Given the description of an element on the screen output the (x, y) to click on. 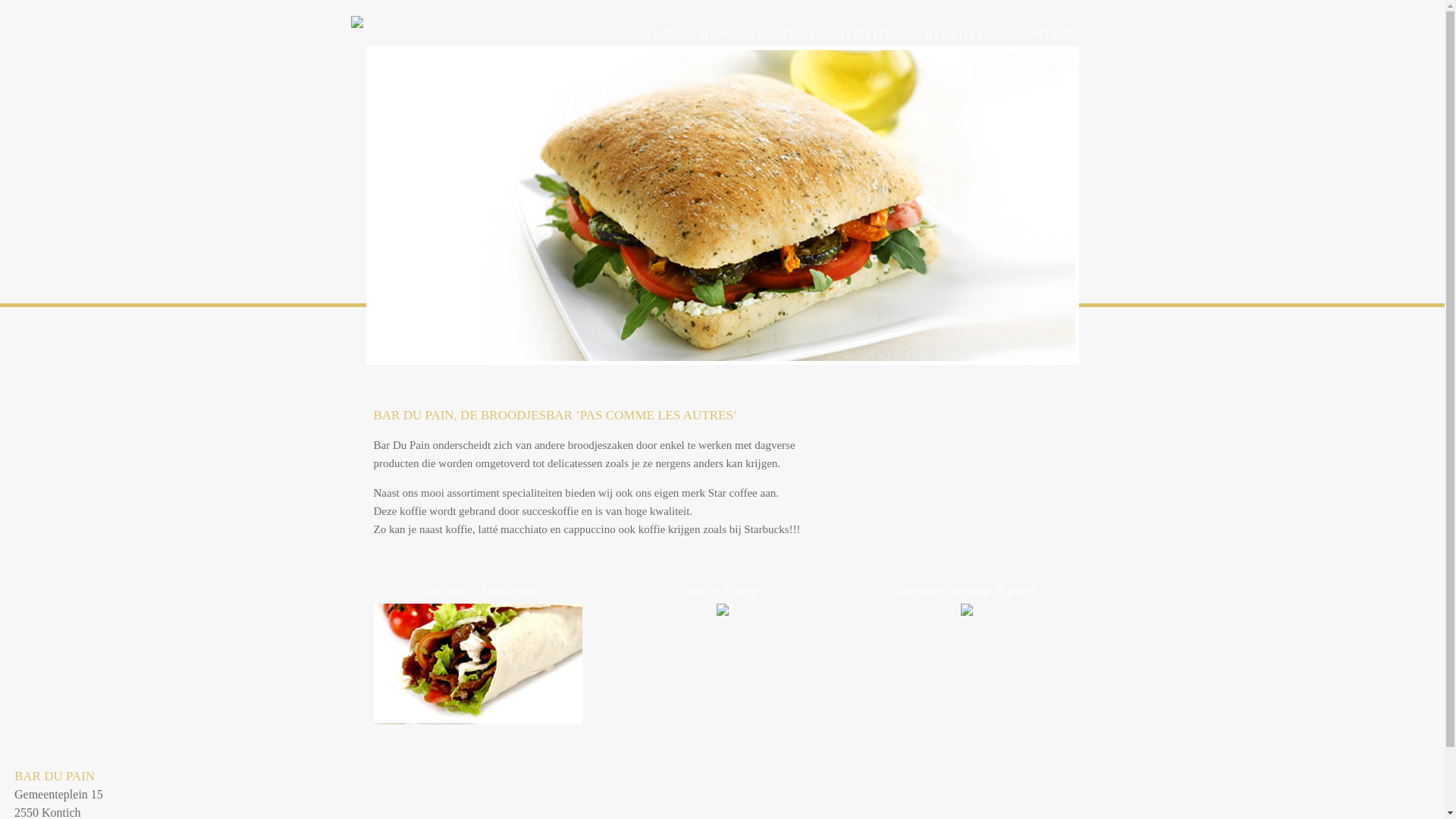
Recepties, meetings & partys Element type: text (966, 597)
BEDRIJVEN Element type: text (959, 34)
Take Away - Lunchroom Element type: text (478, 651)
Succes Coffee Element type: text (722, 597)
CONTACT Element type: text (1045, 34)
KOFFIESPECIALITEITEN Element type: text (829, 34)
HOME Element type: text (657, 34)
MENU Element type: text (716, 34)
